Given the description of an element on the screen output the (x, y) to click on. 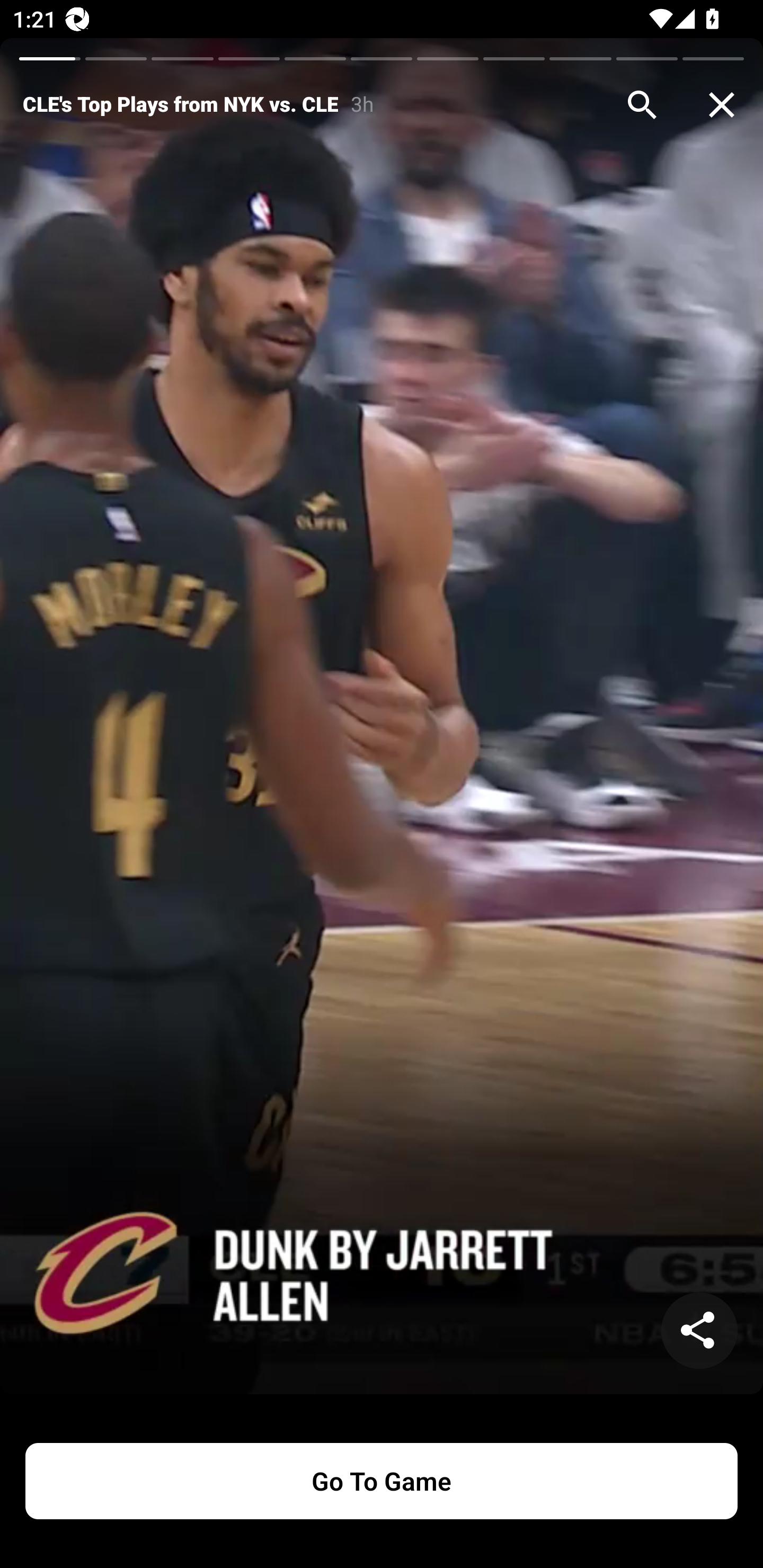
search (642, 104)
close (721, 104)
share (699, 1330)
Go To Game (381, 1480)
